Given the description of an element on the screen output the (x, y) to click on. 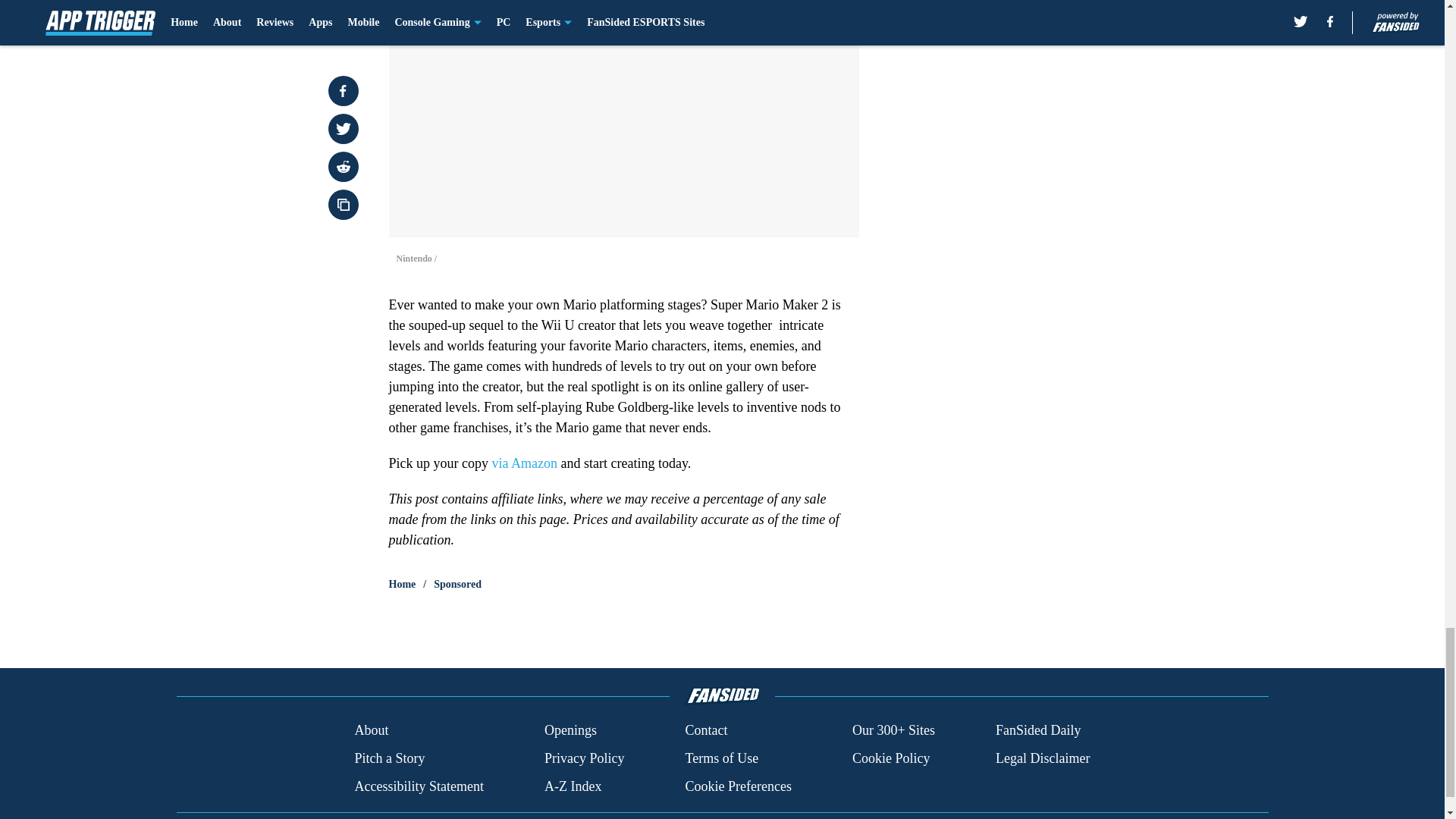
Openings (570, 730)
About (370, 730)
Contact (705, 730)
via Amazon (524, 462)
Terms of Use (721, 758)
Pitch a Story (389, 758)
Privacy Policy (584, 758)
Sponsored (457, 584)
FanSided Daily (1038, 730)
Home (401, 584)
